Given the description of an element on the screen output the (x, y) to click on. 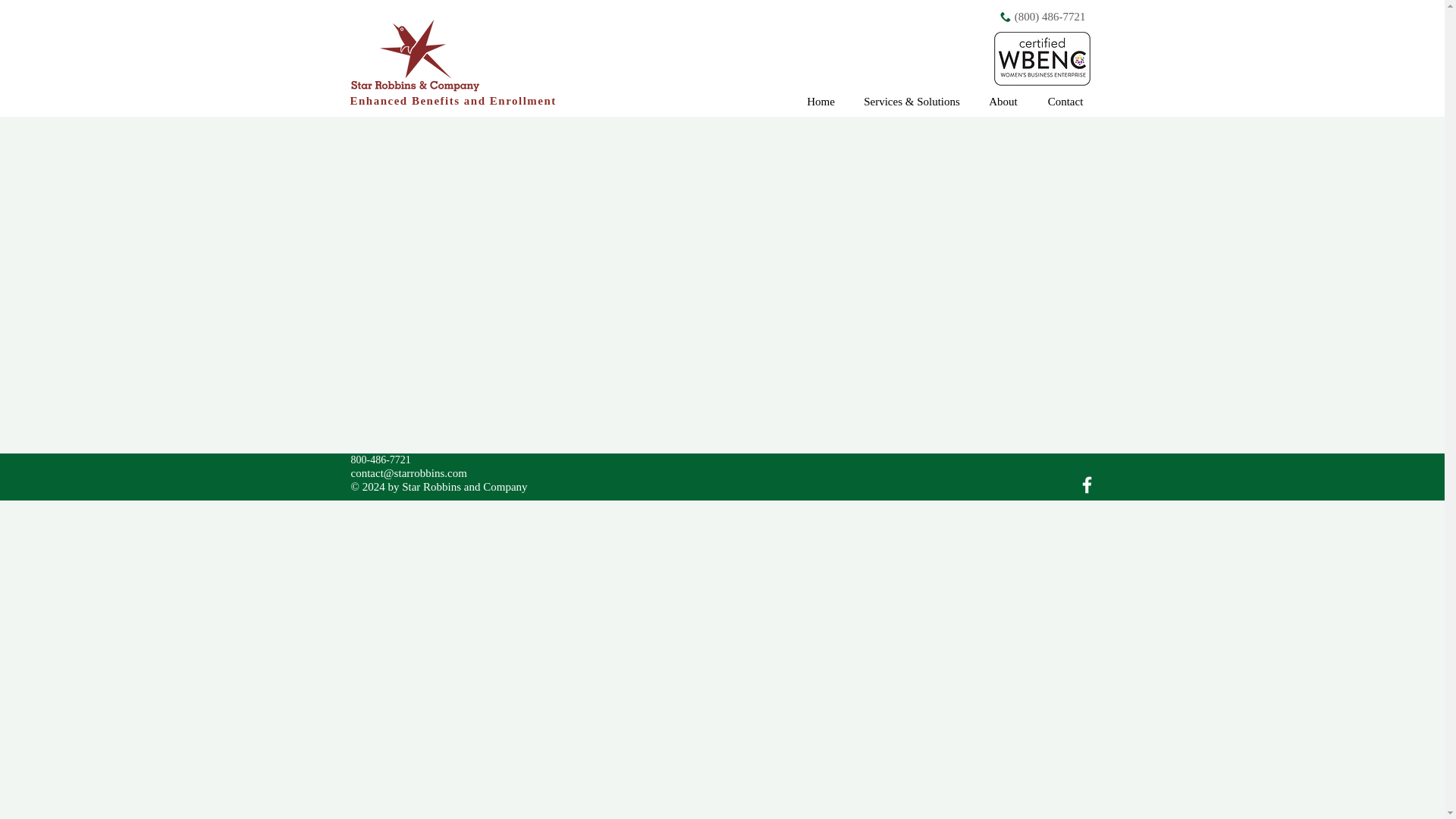
Enhanced Benefits and Enrollment (453, 101)
Contact (1063, 101)
About (1002, 101)
Home (820, 101)
